Given the description of an element on the screen output the (x, y) to click on. 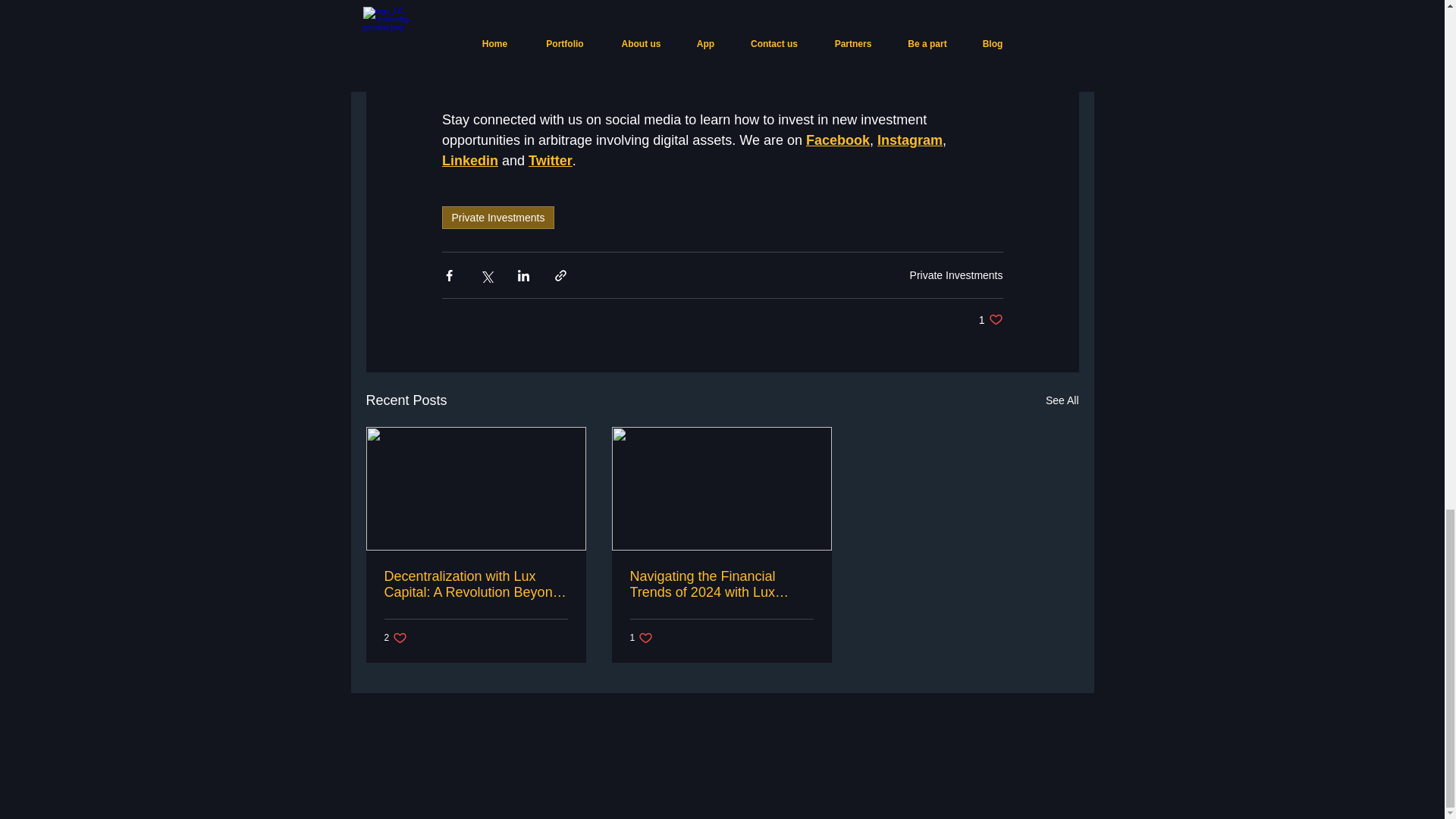
Facebook (837, 140)
Linkedin (395, 637)
Private Investments (469, 160)
Navigating the Financial Trends of 2024 with Lux Capital (956, 275)
Instagram (720, 584)
Private Investments (640, 637)
See All (909, 140)
Twitter (497, 217)
